Given the description of an element on the screen output the (x, y) to click on. 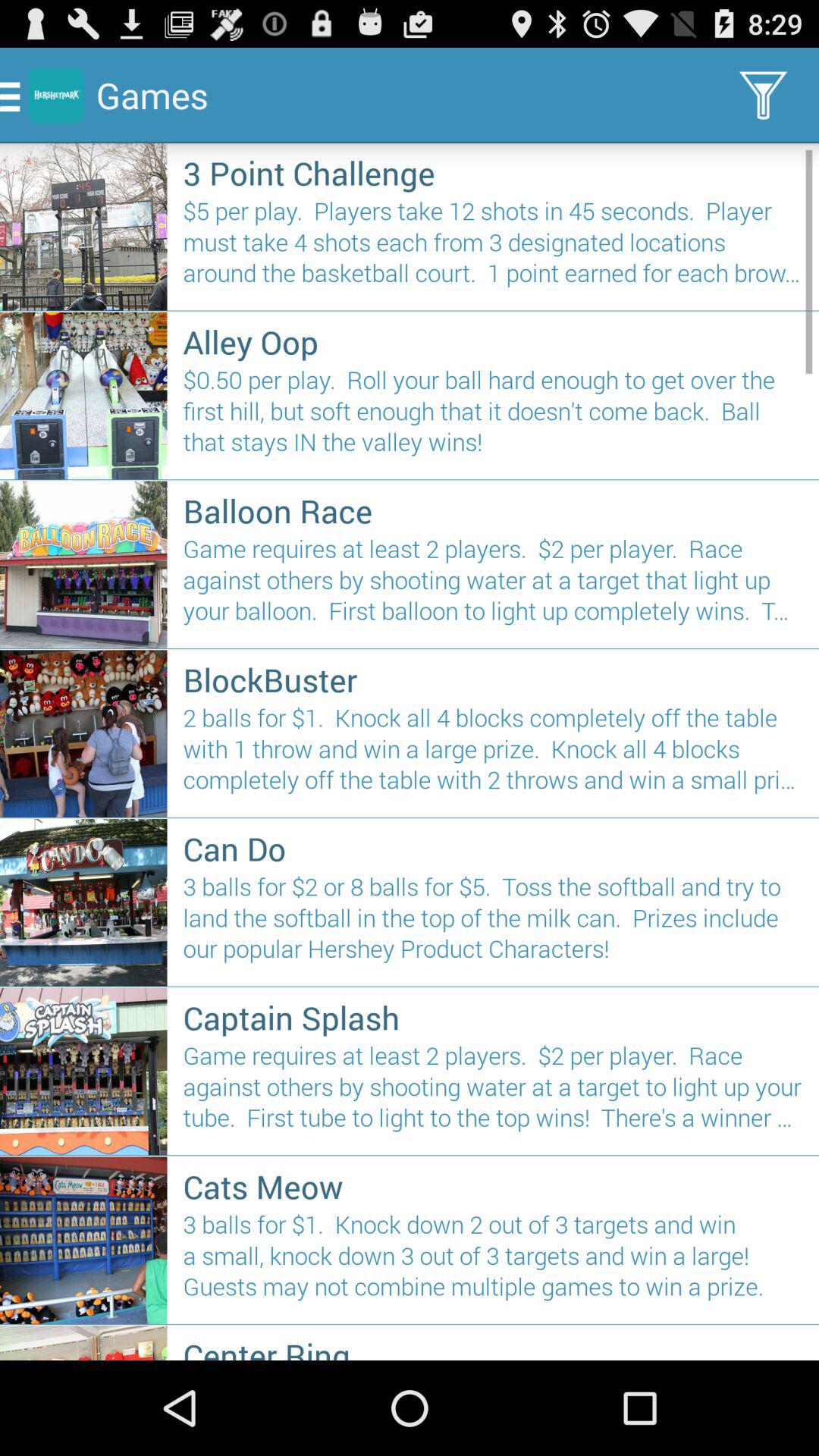
select 0 50 per item (493, 417)
